Given the description of an element on the screen output the (x, y) to click on. 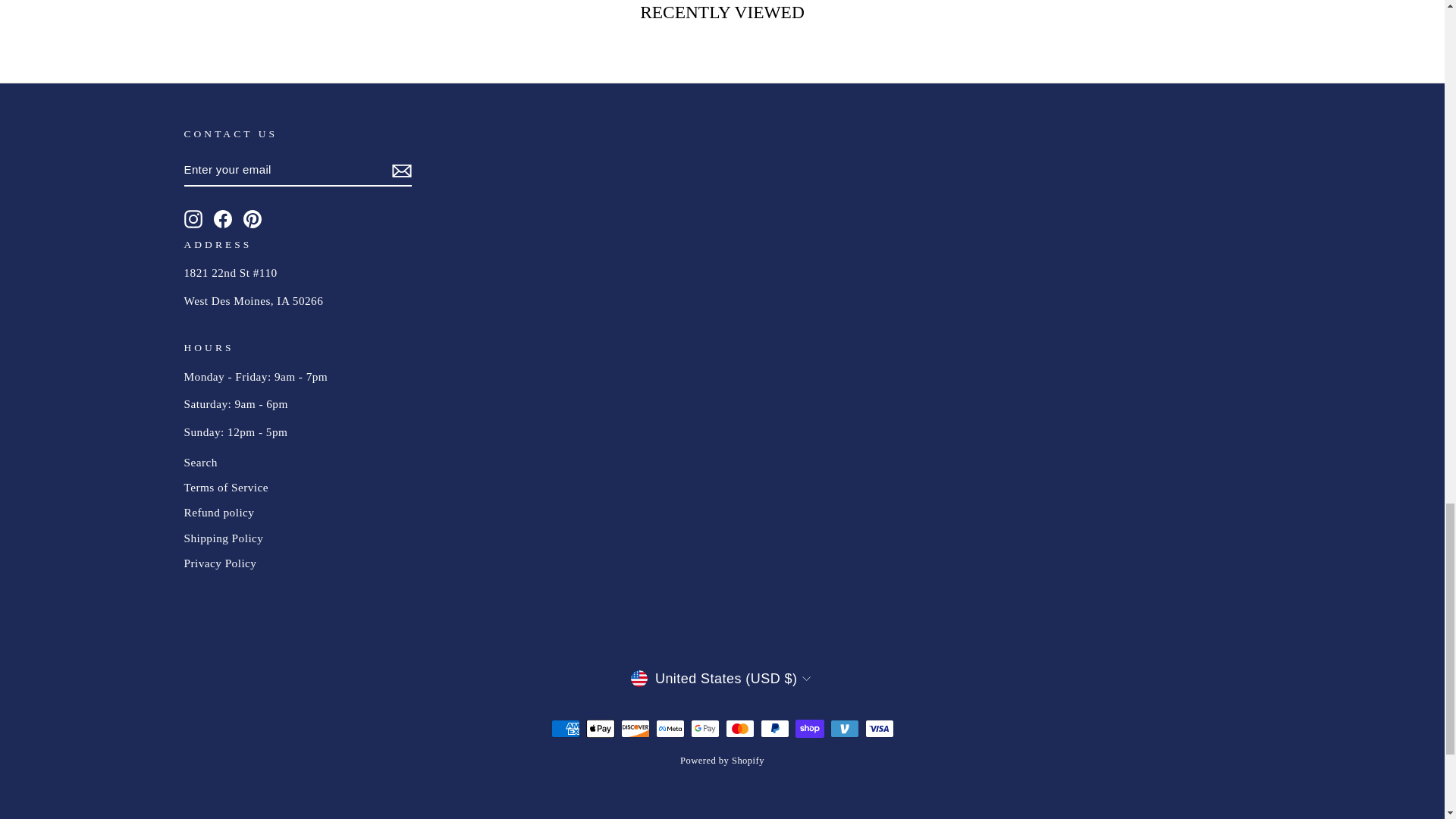
Brown's Shoe Fit WDM on Pinterest (251, 218)
instagram (192, 218)
Brown's Shoe Fit WDM on Facebook (222, 218)
icon-email (400, 170)
Apple Pay (599, 728)
Discover (634, 728)
American Express (564, 728)
Brown's Shoe Fit WDM on Instagram (192, 218)
